Given the description of an element on the screen output the (x, y) to click on. 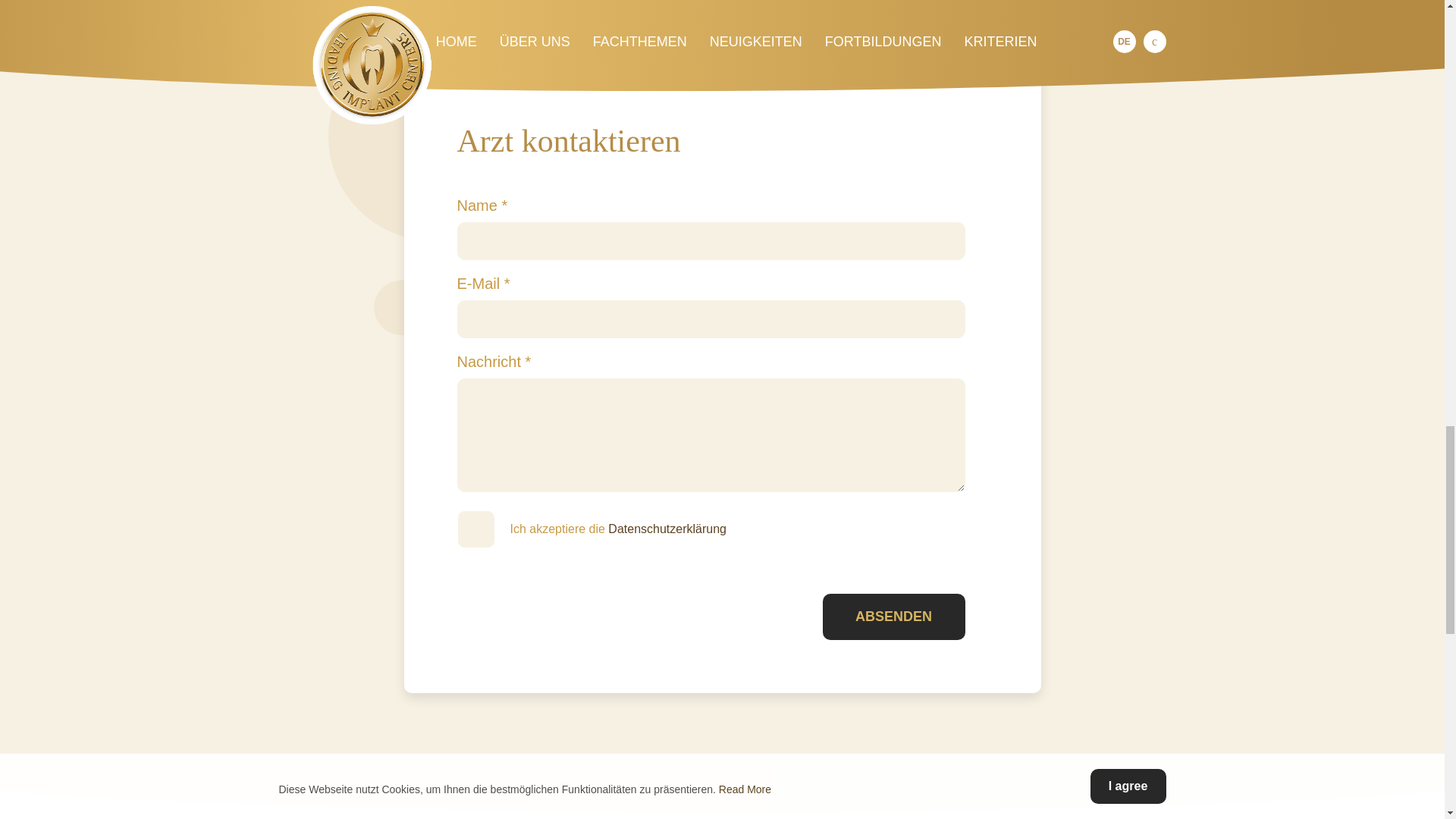
Absenden (892, 616)
ABSENDEN (892, 616)
